Given the description of an element on the screen output the (x, y) to click on. 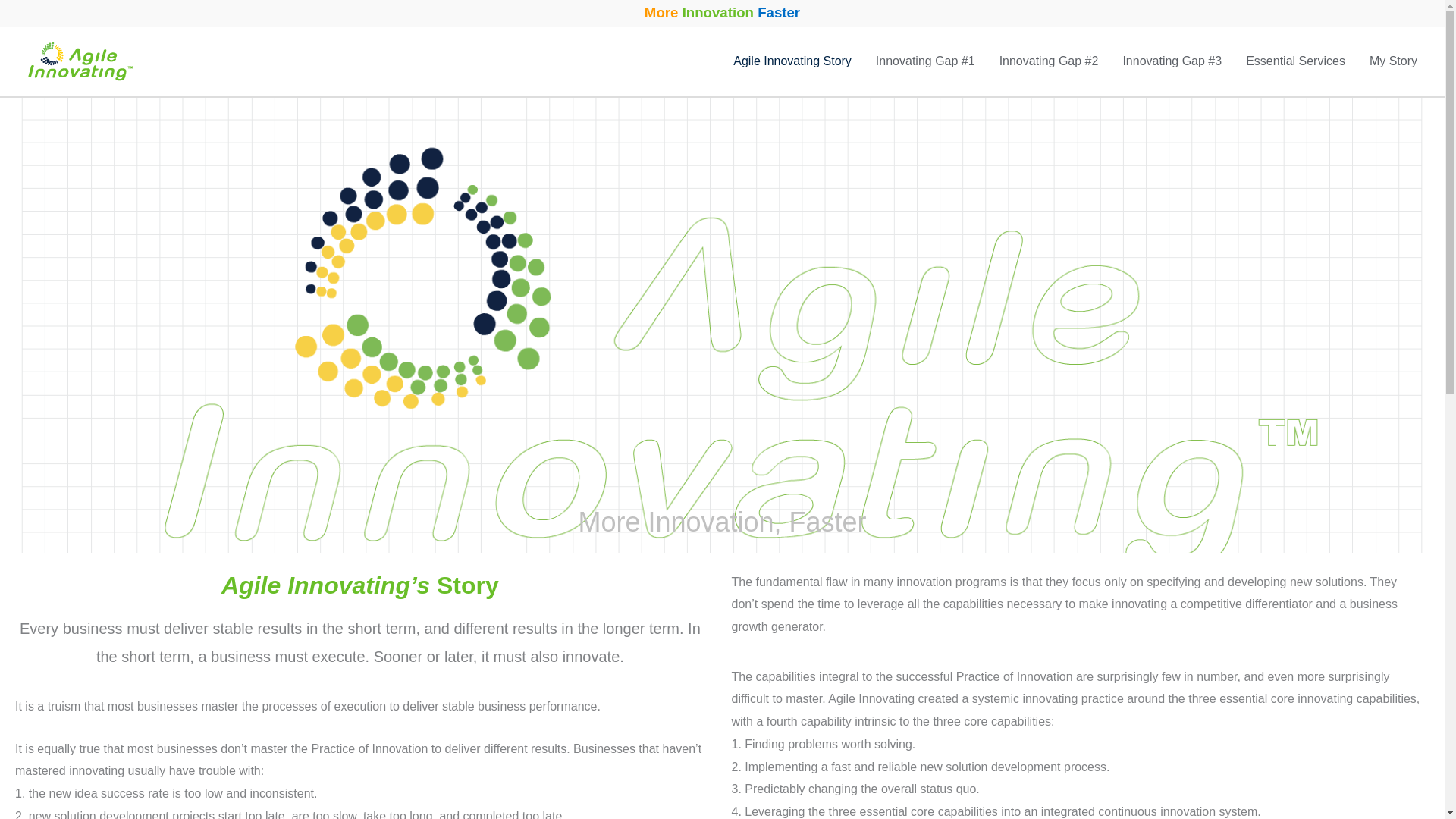
Agile Innovating Story (791, 60)
My Story (1392, 60)
Essential Services (1294, 60)
